Given the description of an element on the screen output the (x, y) to click on. 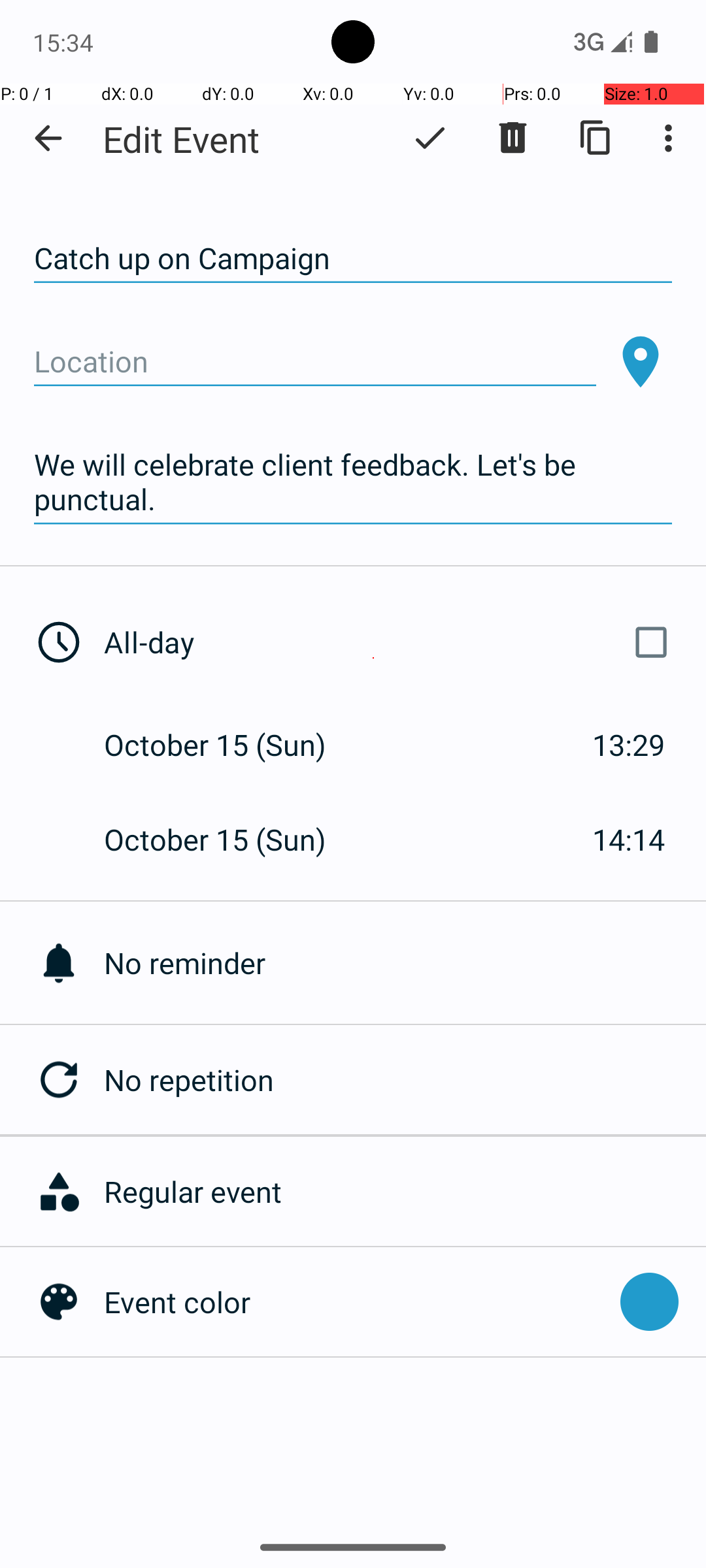
Catch up on Campaign Element type: android.widget.EditText (352, 258)
We will celebrate client feedback. Let's be punctual. Element type: android.widget.EditText (352, 482)
13:29 Element type: android.widget.TextView (628, 744)
14:14 Element type: android.widget.TextView (628, 838)
